Given the description of an element on the screen output the (x, y) to click on. 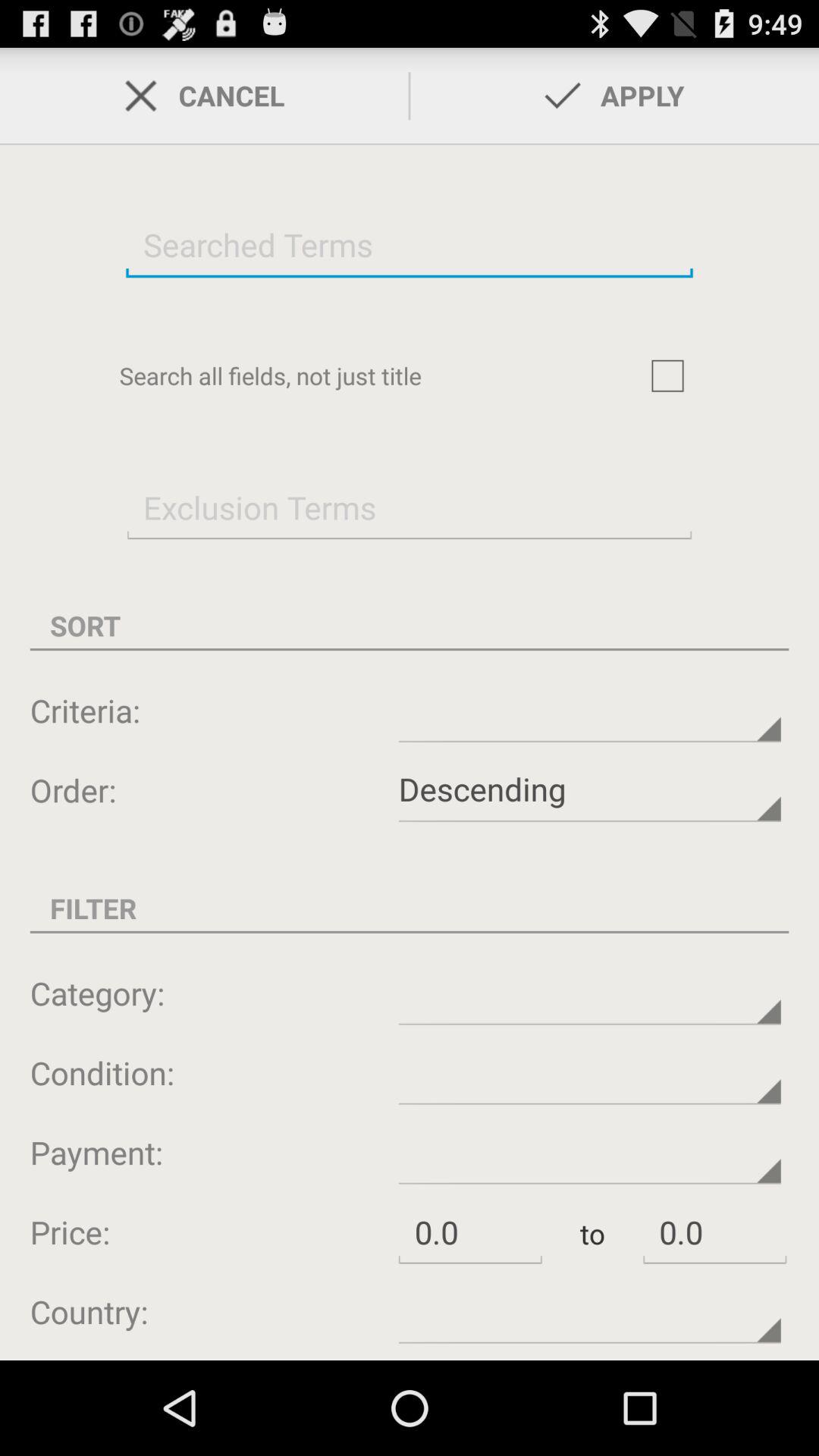
go to play (667, 375)
